Given the description of an element on the screen output the (x, y) to click on. 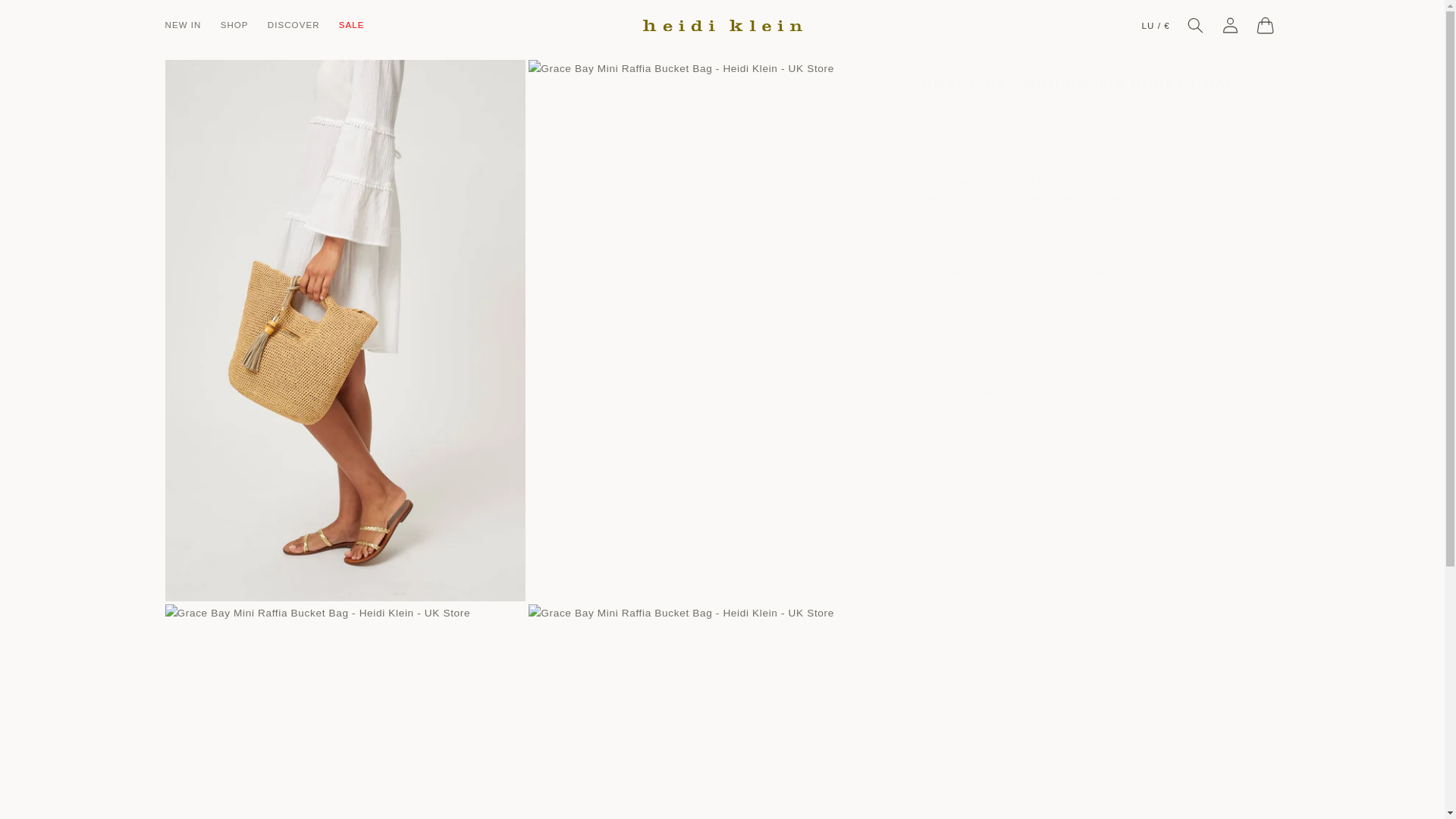
SKIP TO CONTENT (48, 18)
Open media 4 in modal (708, 711)
Open media 3 in modal (345, 711)
